Given the description of an element on the screen output the (x, y) to click on. 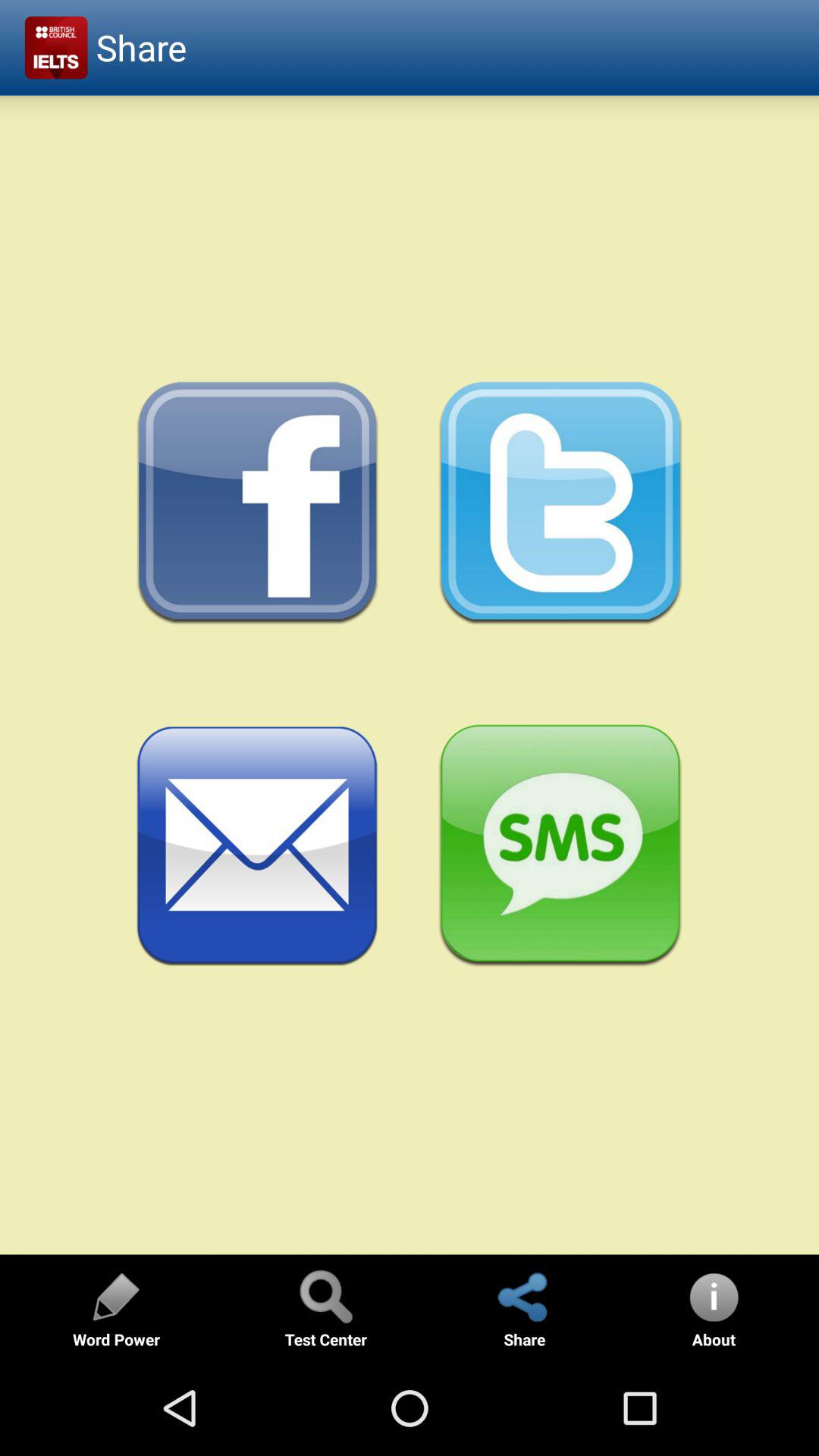
share via sms (560, 846)
